Given the description of an element on the screen output the (x, y) to click on. 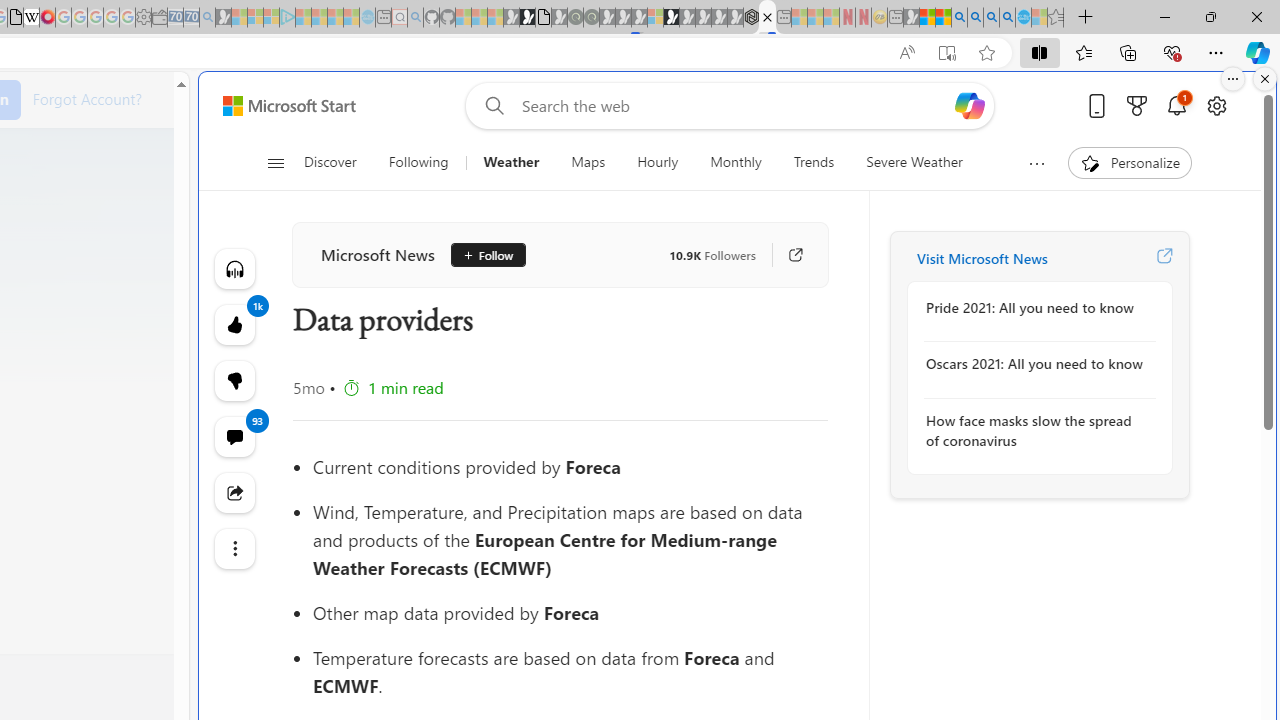
More options. (1233, 79)
Monthly (735, 162)
Skip to content (282, 105)
Future Focus Report 2024 - Sleeping (591, 17)
1k Like (234, 324)
Open Copilot (969, 105)
Open navigation menu (275, 162)
Favorites - Sleeping (1055, 17)
Data providers (767, 17)
